Given the description of an element on the screen output the (x, y) to click on. 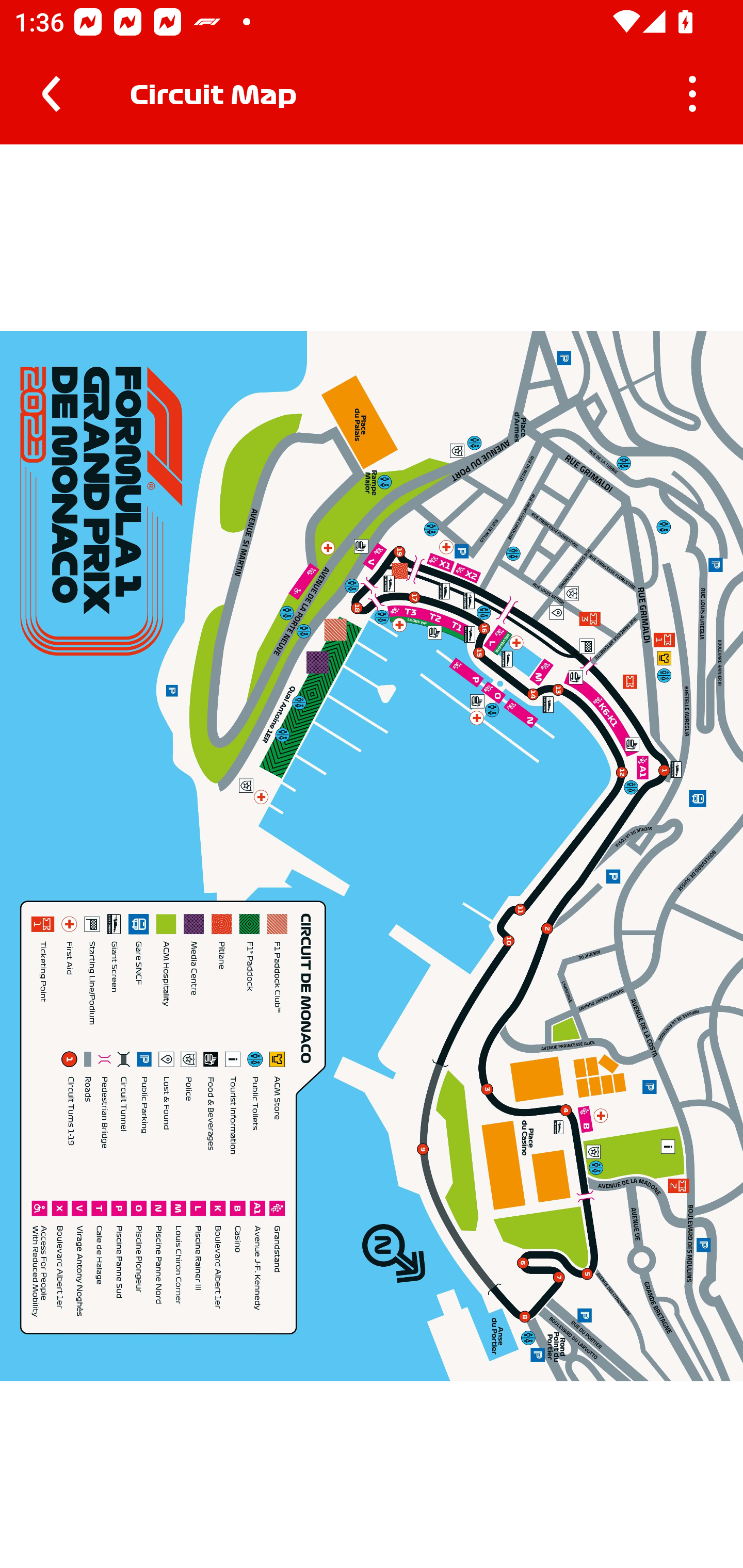
Navigate up (50, 93)
